Given the description of an element on the screen output the (x, y) to click on. 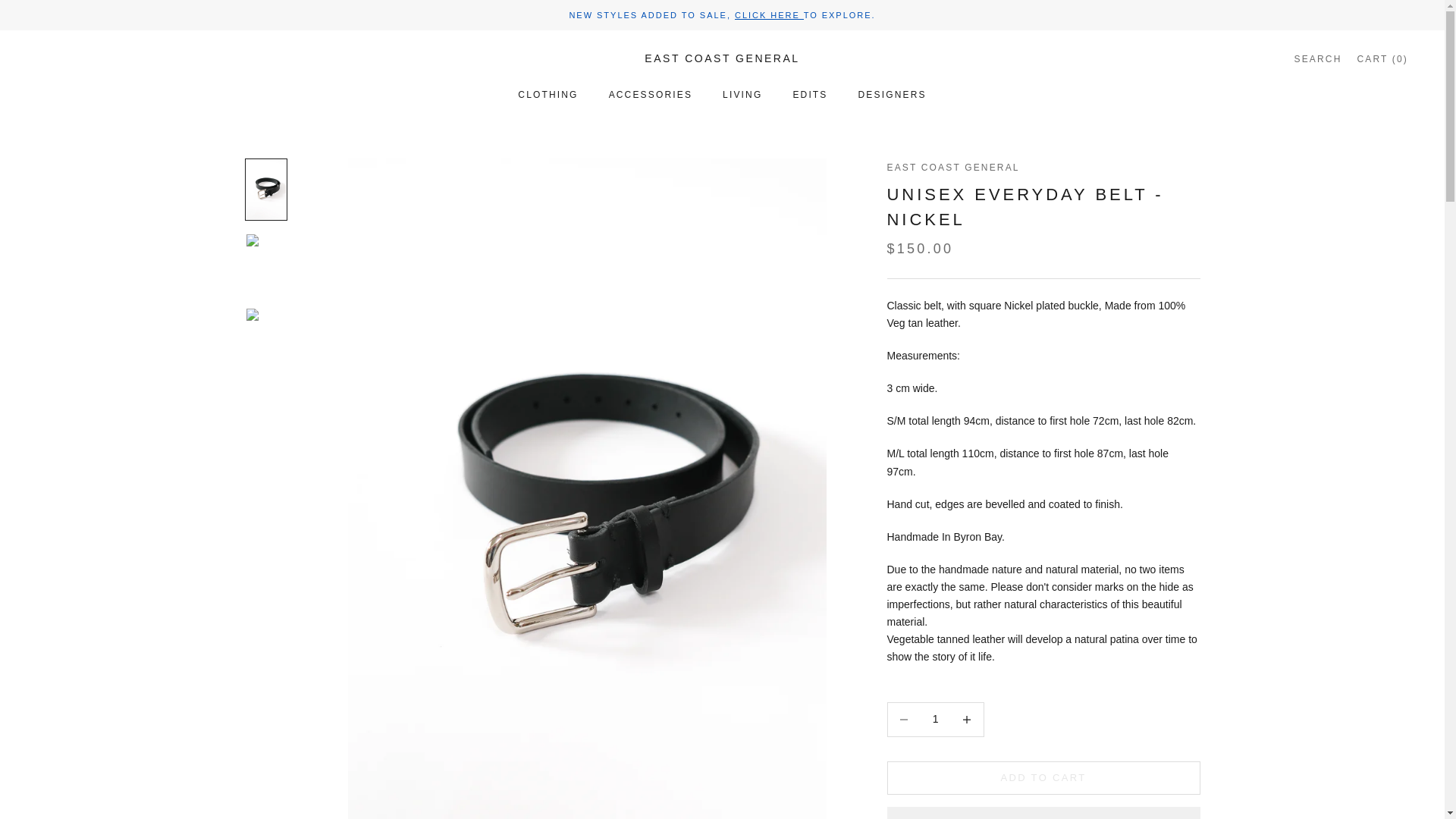
EAST COAST GENERAL (722, 58)
CLICK HERE (769, 14)
1 (935, 719)
Sale (769, 14)
